Given the description of an element on the screen output the (x, y) to click on. 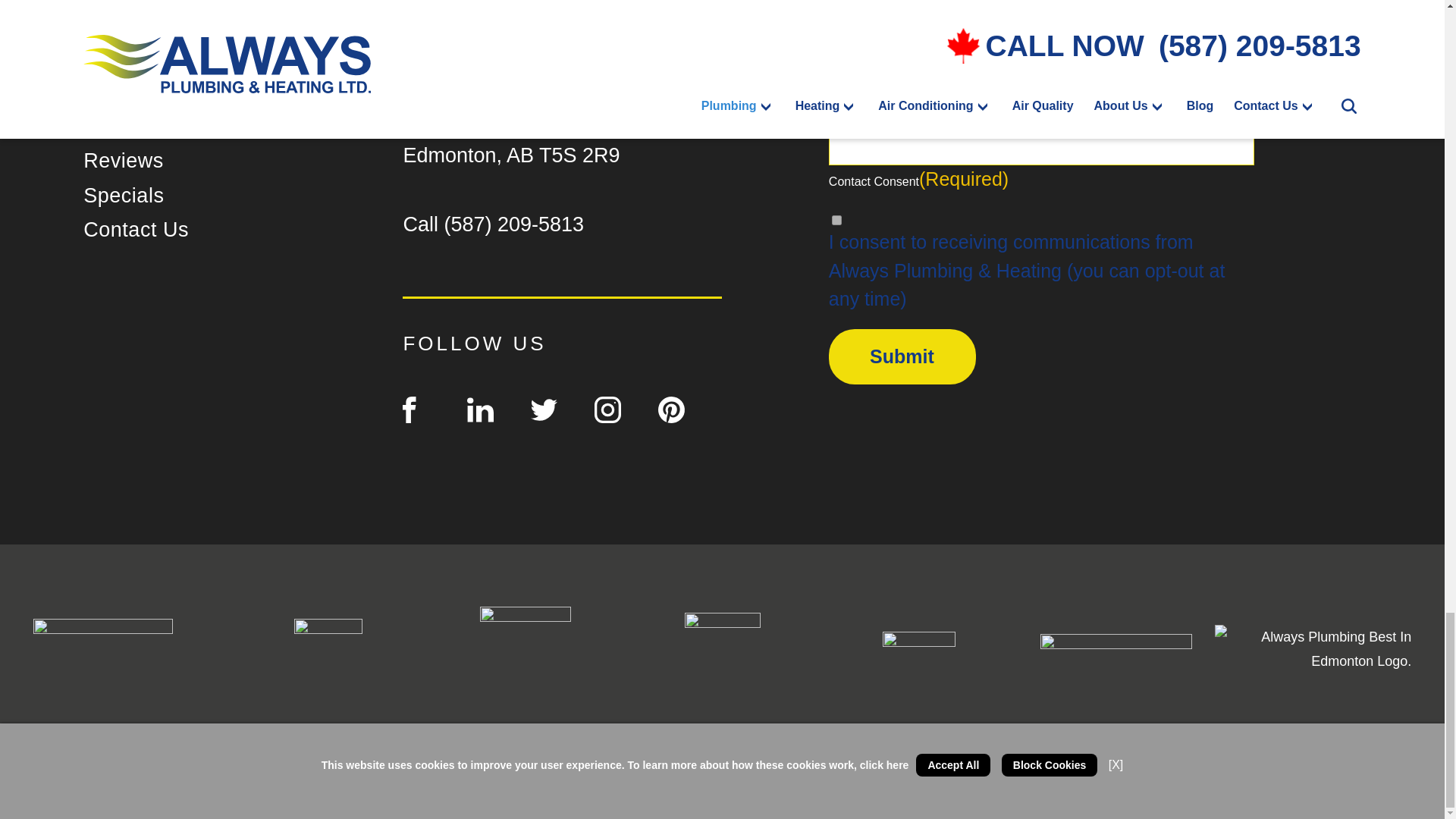
Submit (901, 356)
